Given the description of an element on the screen output the (x, y) to click on. 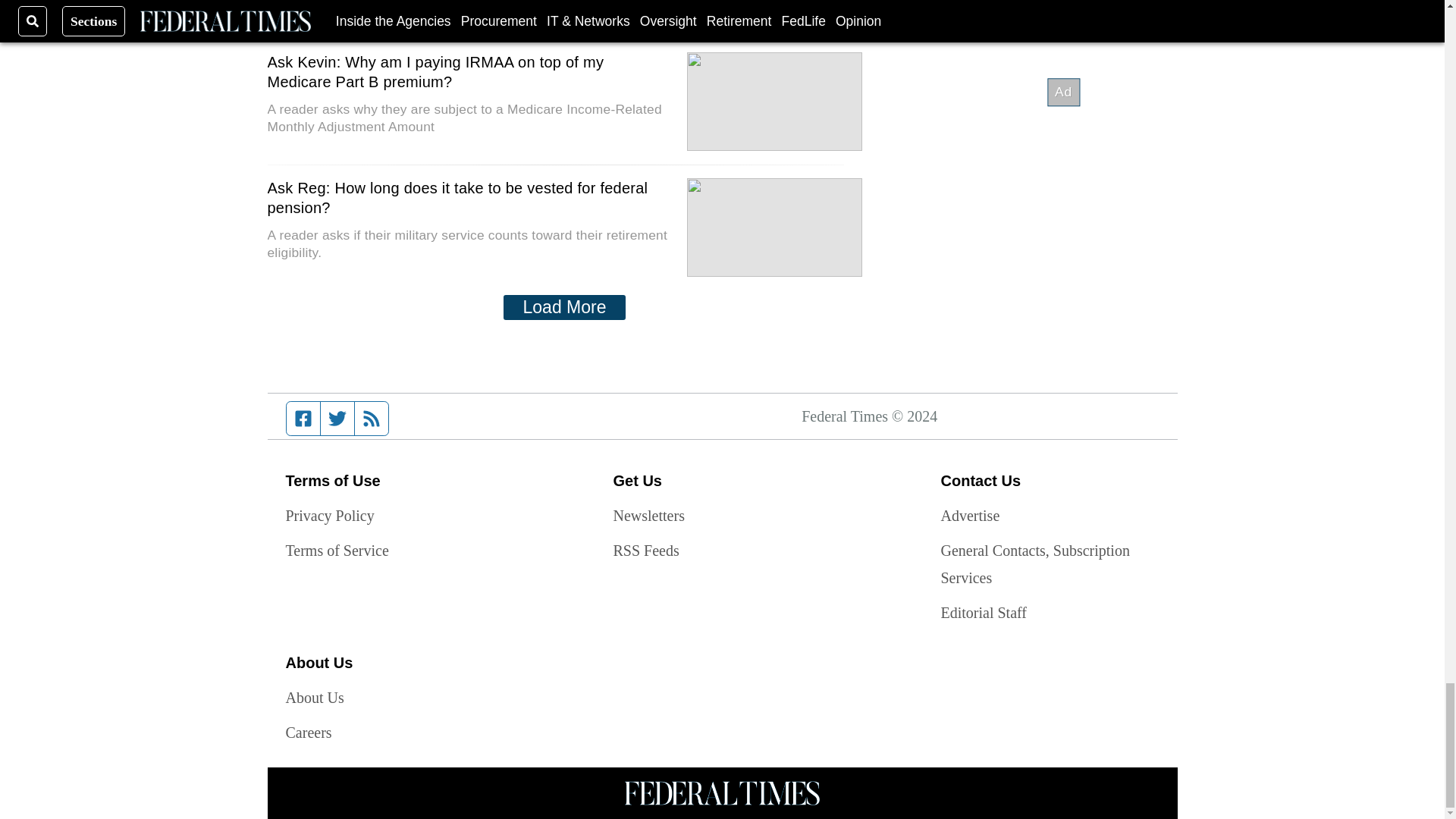
RSS feed (371, 418)
Facebook page (303, 418)
Twitter feed (336, 418)
